Given the description of an element on the screen output the (x, y) to click on. 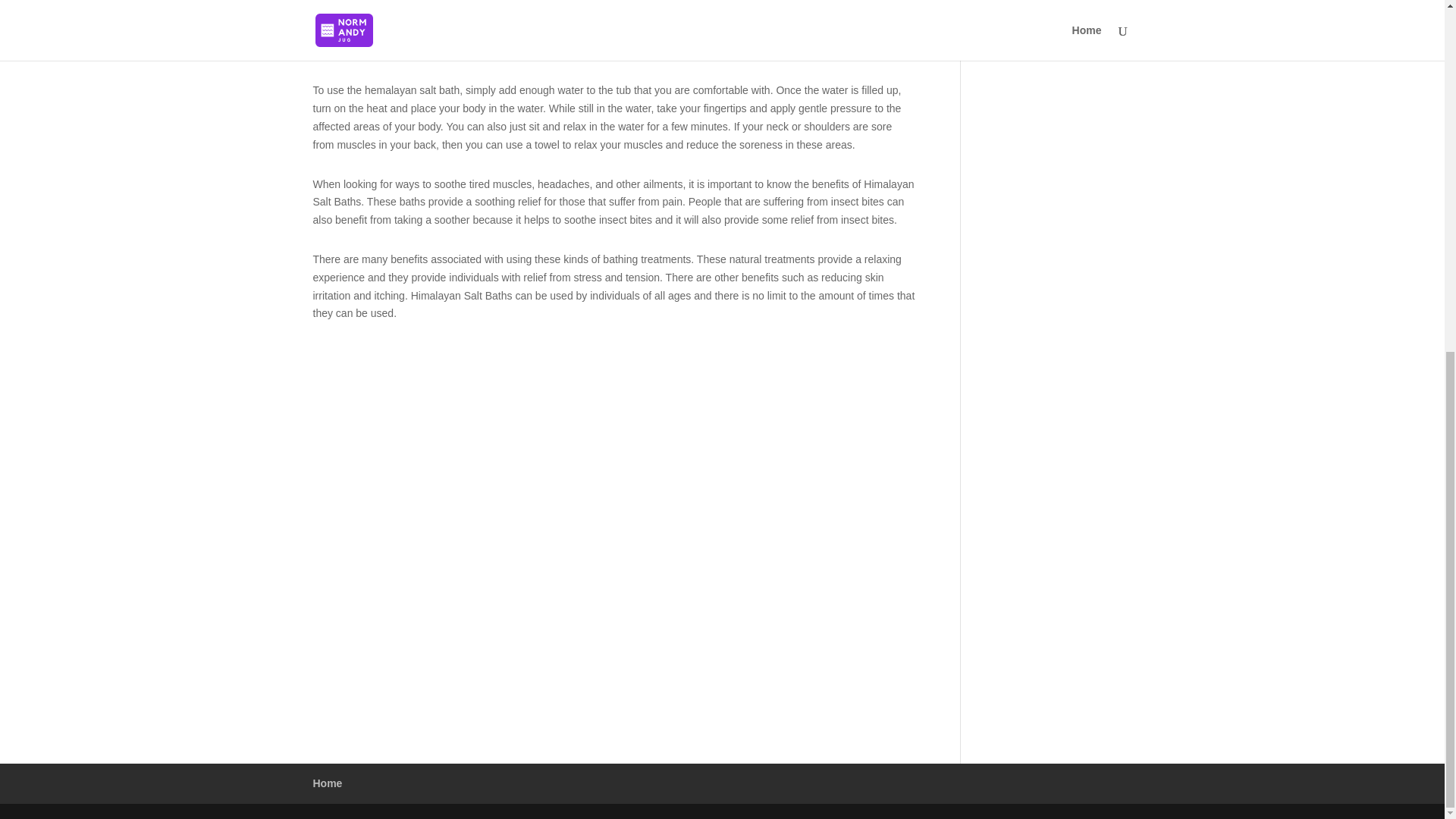
Home (327, 783)
